Given the description of an element on the screen output the (x, y) to click on. 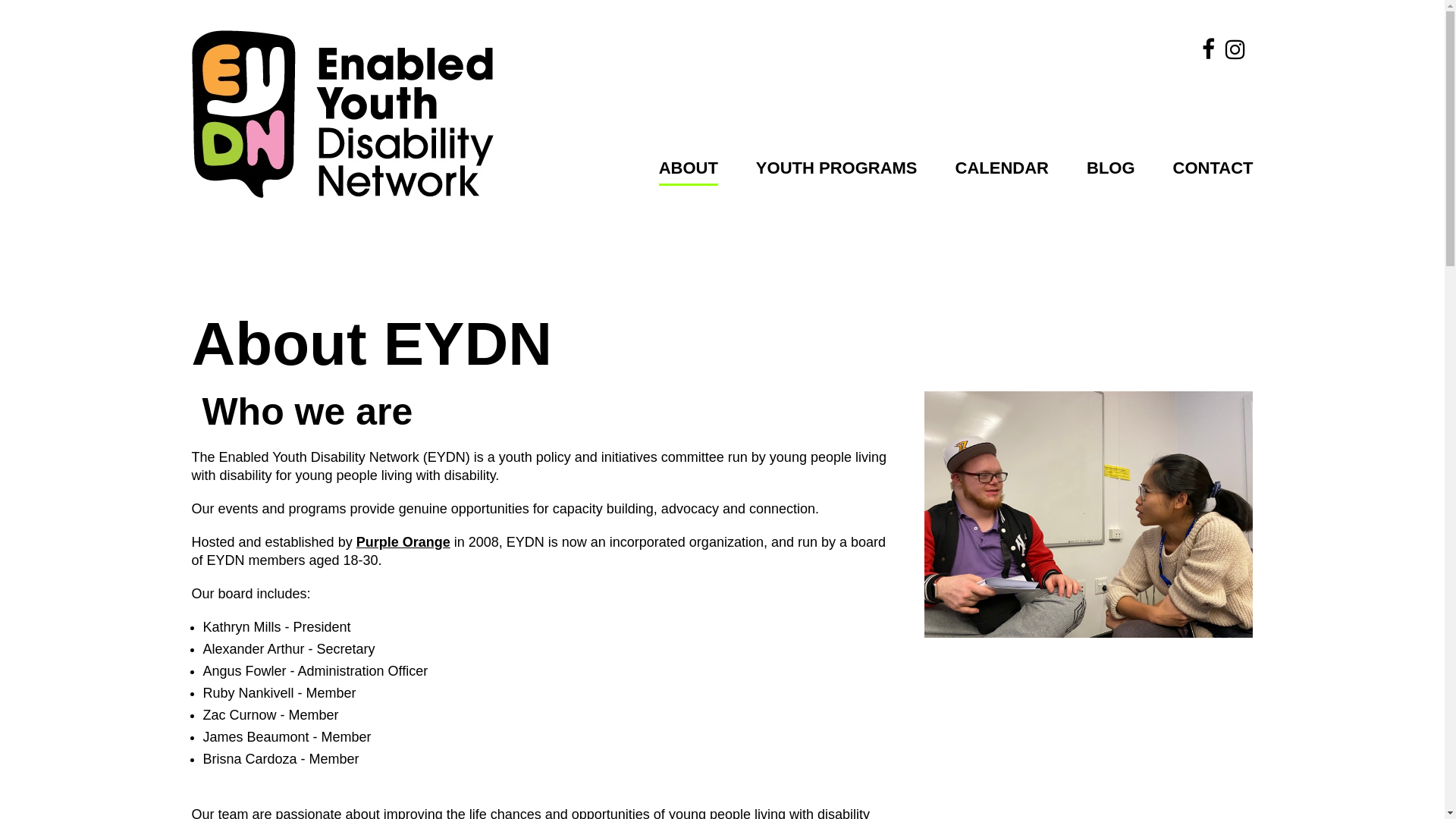
CONTACT Element type: text (1213, 172)
Instagram Element type: hover (1235, 48)
BLOG Element type: text (1110, 172)
YOUTH PROGRAMS Element type: text (836, 172)
CALENDAR Element type: text (1001, 172)
ABOUT Element type: text (688, 172)
Skip to Content (Press Enter) Element type: text (519, 14)
Purple Orange Element type: text (403, 541)
Facebook Element type: hover (1207, 48)
Enabled Youth Disability Network Element type: text (341, 113)
